Given the description of an element on the screen output the (x, y) to click on. 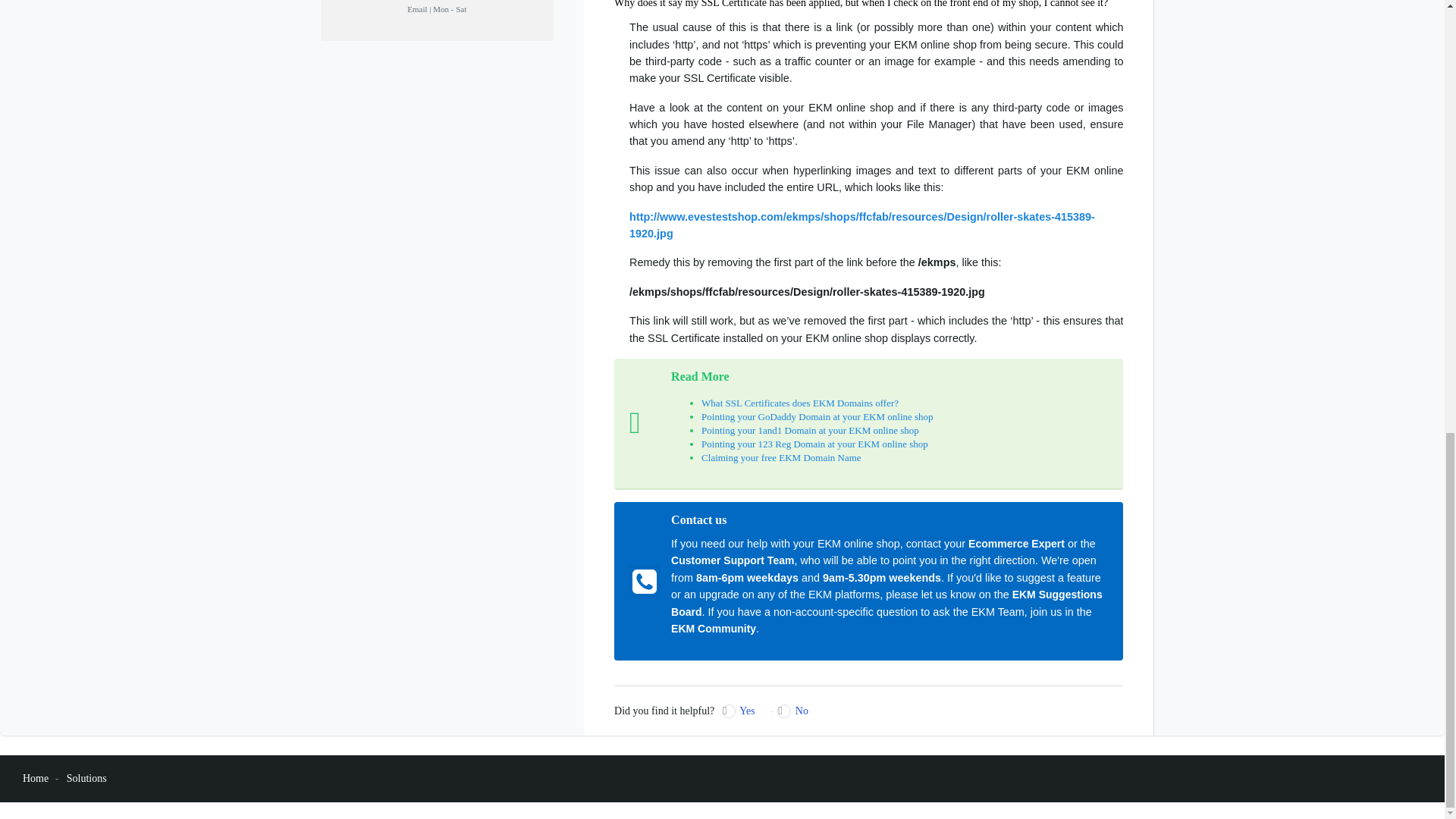
Pointing your 1and1 Domain at your EKM online shop (809, 430)
Pointing your 123 Reg Domain at your EKM online shop (814, 443)
Ecommerce Expert (1016, 543)
Customer Support Team (732, 560)
Pointing your GoDaddy Domain at your EKM online shop (817, 416)
What SSL Certificates does EKM Domains offer? (799, 402)
EKM Suggestions Board (886, 602)
Claiming your free EKM Domain Name (780, 457)
